Given the description of an element on the screen output the (x, y) to click on. 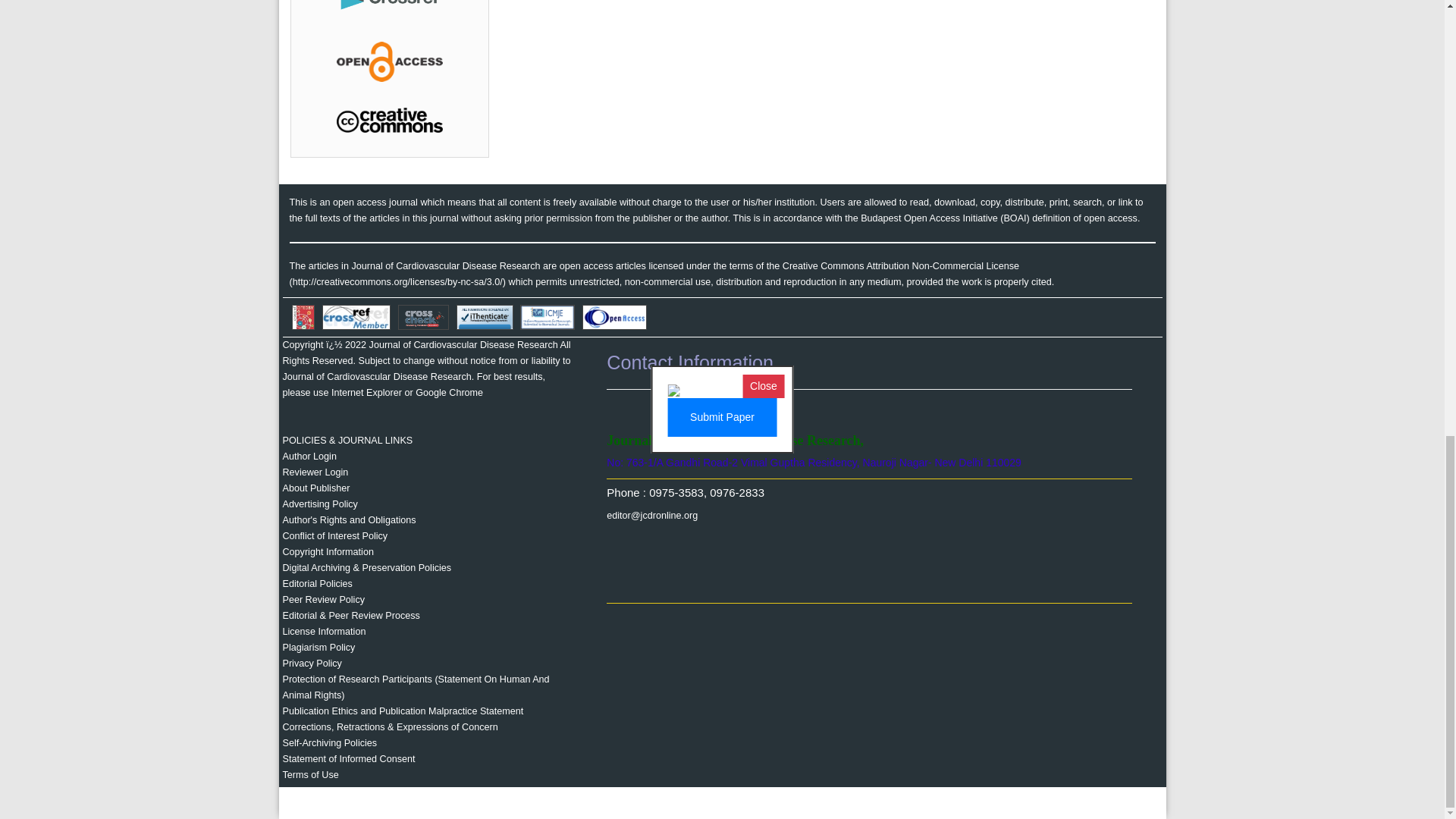
Author Login (309, 456)
Plagiarism Policy (318, 647)
Editorial Policies (317, 583)
Copyright Information (327, 552)
License Information (323, 631)
Conflict of Interest Policy (334, 535)
About Publisher (315, 488)
Peer Review Policy (323, 599)
Reviewer Login (314, 471)
Advertising Policy (319, 503)
Author's Rights and Obligations (348, 520)
